Given the description of an element on the screen output the (x, y) to click on. 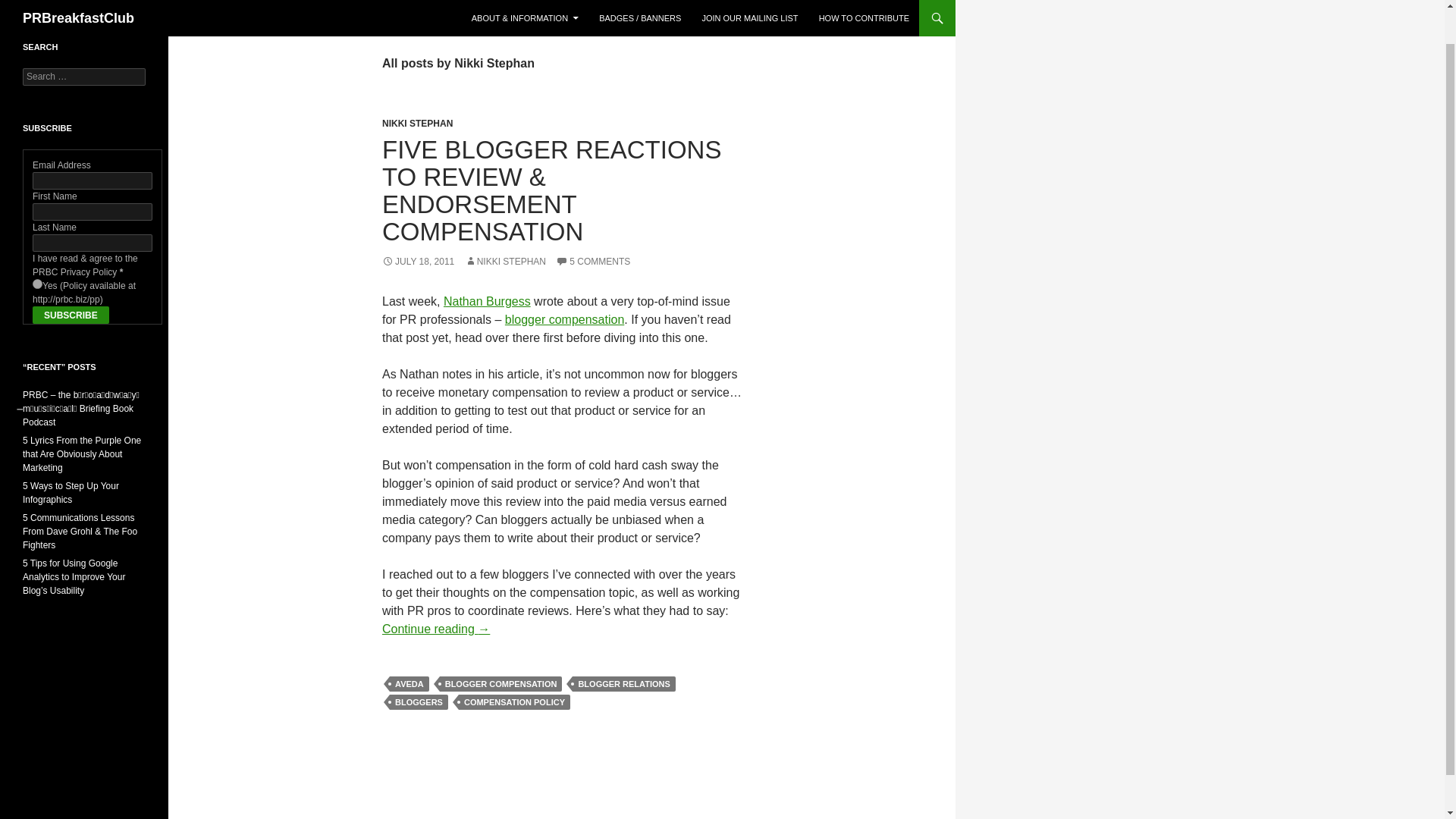
5 Ways to Step Up Your Infographics (71, 492)
NIKKI STEPHAN (416, 122)
BLOGGER RELATIONS (623, 683)
COMPENSATION POLICY (514, 702)
JULY 18, 2011 (417, 261)
5 COMMENTS (593, 261)
BLOGGERS (419, 702)
BLOGGER COMPENSATION (500, 683)
Subscribe (70, 314)
AVEDA (409, 683)
NIKKI STEPHAN (505, 261)
Subscribe (70, 314)
Nathan Burgess (487, 300)
blogger compensation (564, 318)
